Given the description of an element on the screen output the (x, y) to click on. 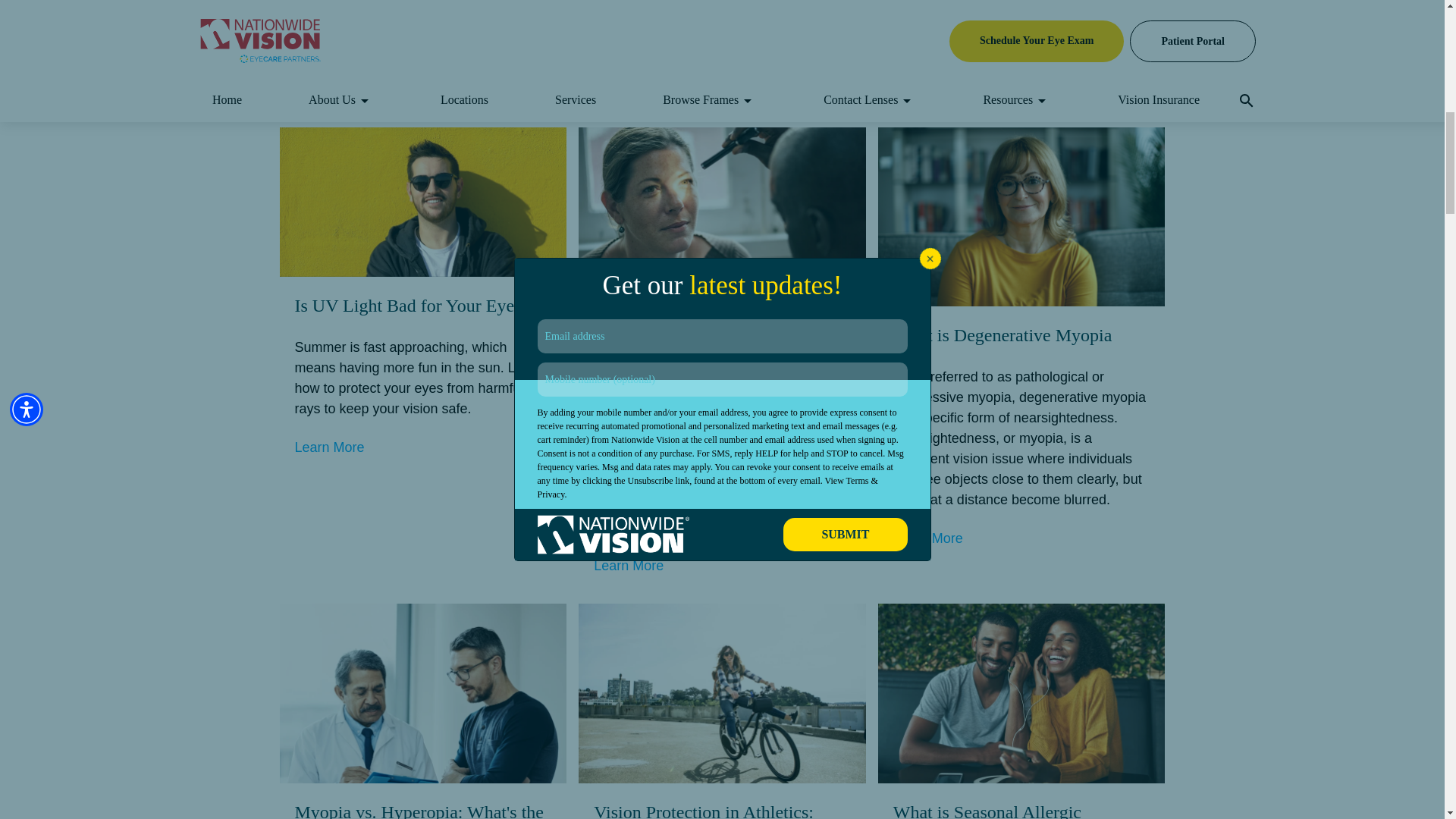
Learn More (329, 447)
Learn More (927, 80)
Learn More (628, 565)
Learn More (329, 80)
Learn More (628, 89)
Learn More (927, 538)
